Given the description of an element on the screen output the (x, y) to click on. 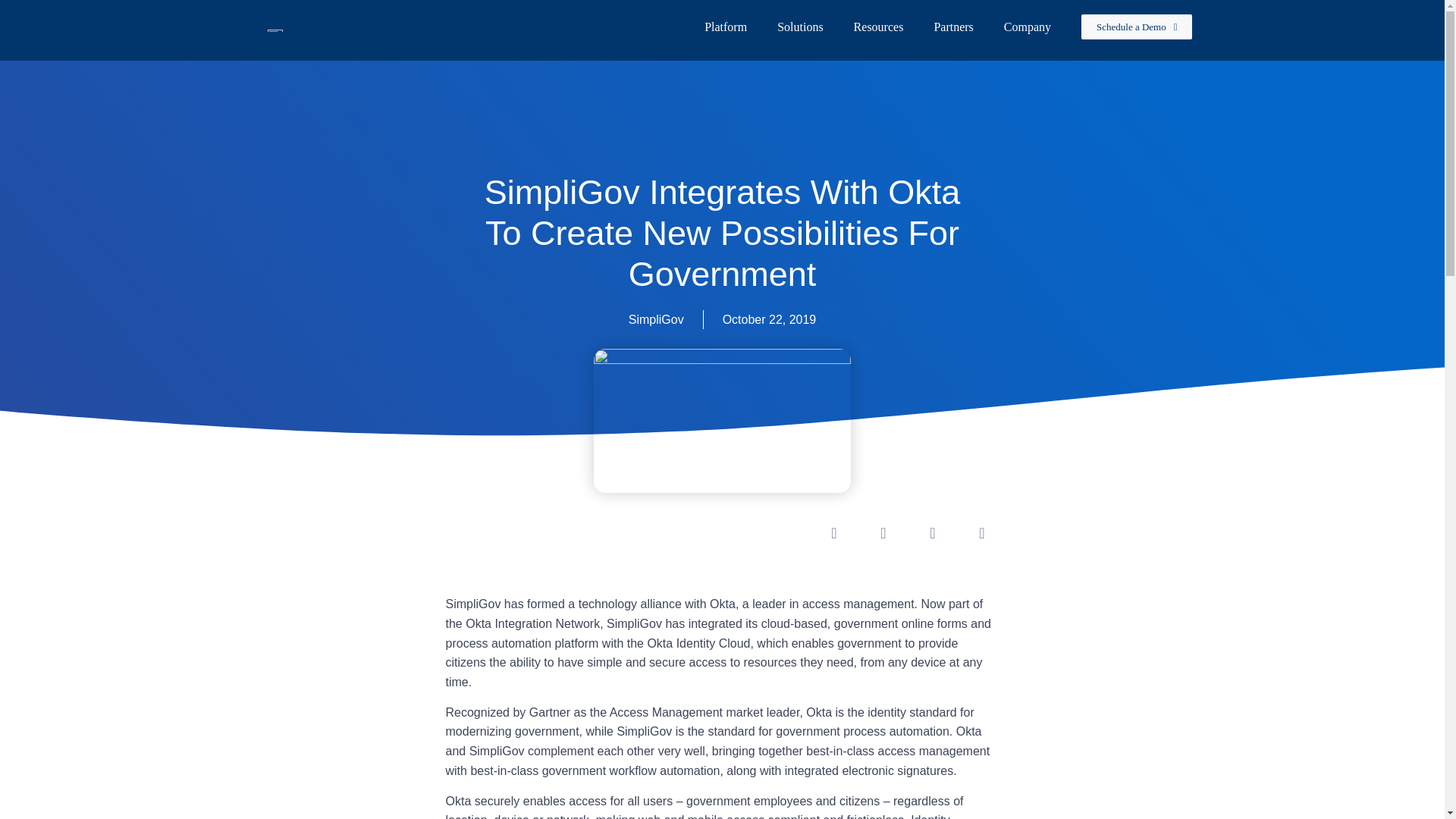
Platform (724, 27)
Solutions (799, 27)
Resources (878, 27)
